Given the description of an element on the screen output the (x, y) to click on. 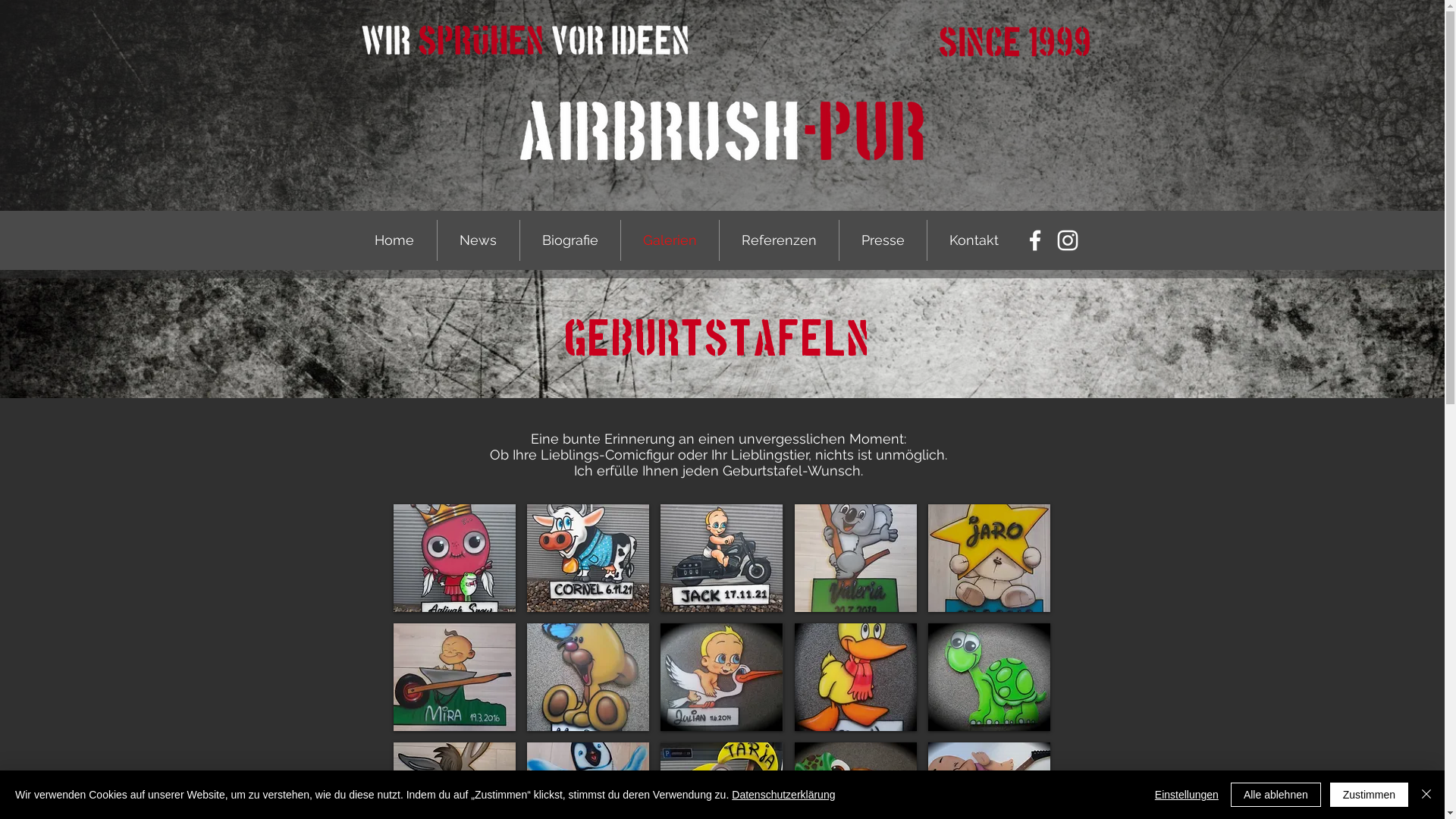
Kontakt Element type: text (972, 239)
Referenzen Element type: text (777, 239)
Alle ablehnen Element type: text (1275, 794)
Logo Airbrush-Pur Element type: hover (721, 131)
Biografie Element type: text (570, 239)
News Element type: text (477, 239)
Home Element type: text (393, 239)
Presse Element type: text (881, 239)
Zustimmen Element type: text (1369, 794)
Slogan1.png Element type: hover (523, 39)
Galerien Element type: text (669, 239)
